Given the description of an element on the screen output the (x, y) to click on. 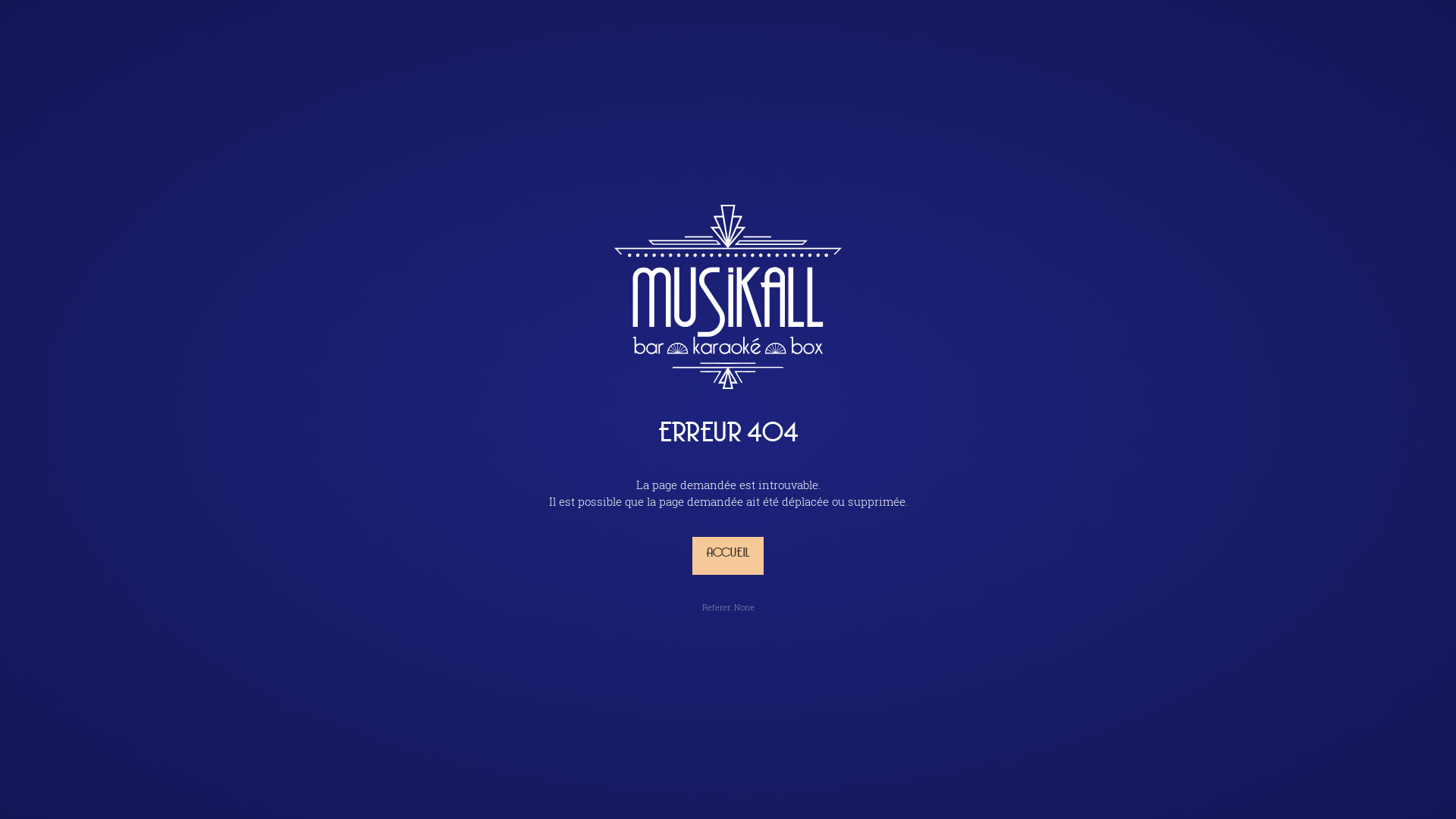
ACCUEIL Element type: text (728, 555)
